Given the description of an element on the screen output the (x, y) to click on. 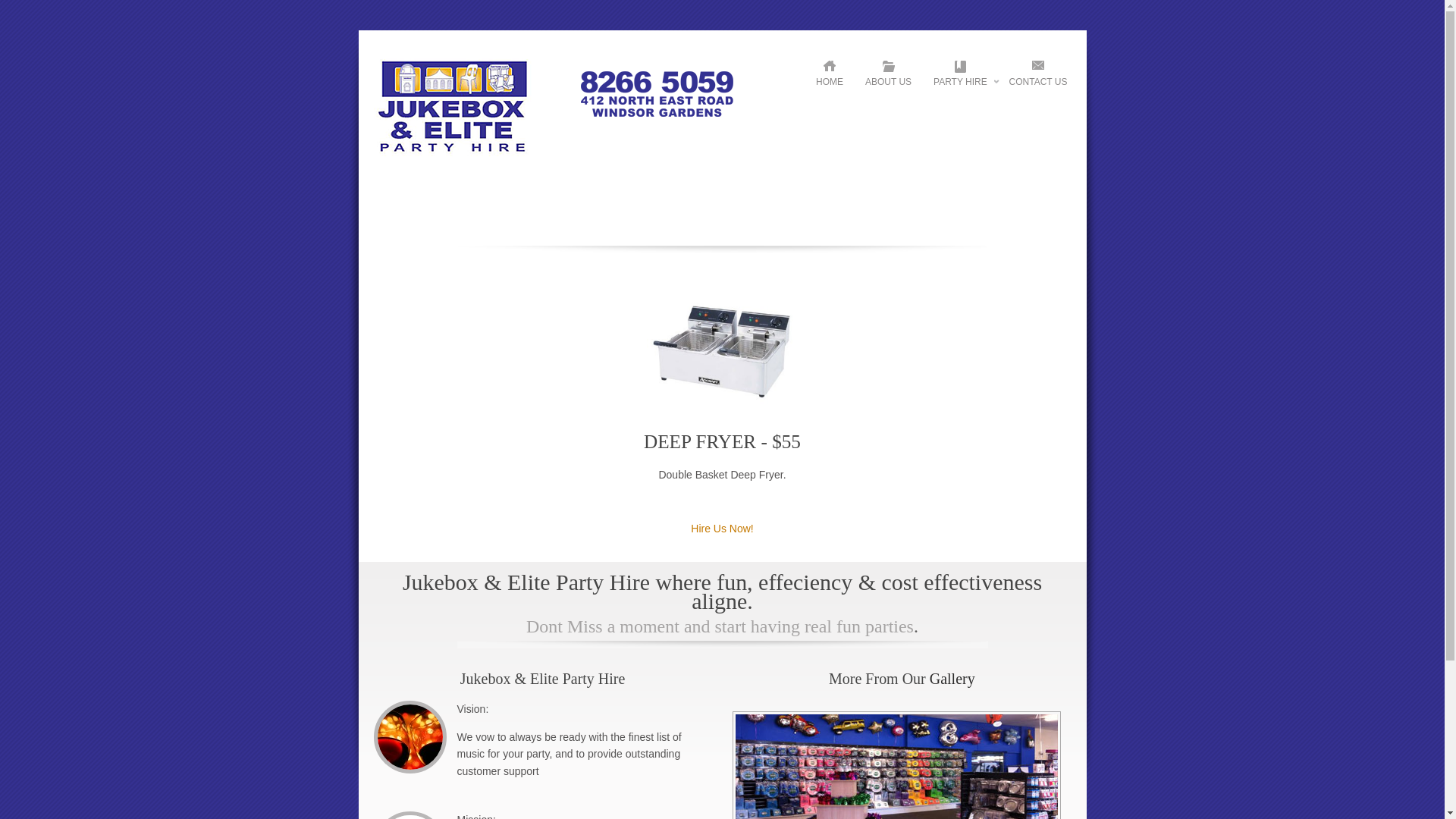
HOME Element type: text (829, 77)
Hire Us Now! Element type: text (721, 528)
CONTACT US Element type: text (1038, 77)
Jukebox & Elite Party Hire Element type: hover (561, 172)
ABOUT US Element type: text (888, 77)
Vision Element type: hover (409, 736)
Jukebox & Elite Party Hire Logo Element type: hover (561, 114)
